Given the description of an element on the screen output the (x, y) to click on. 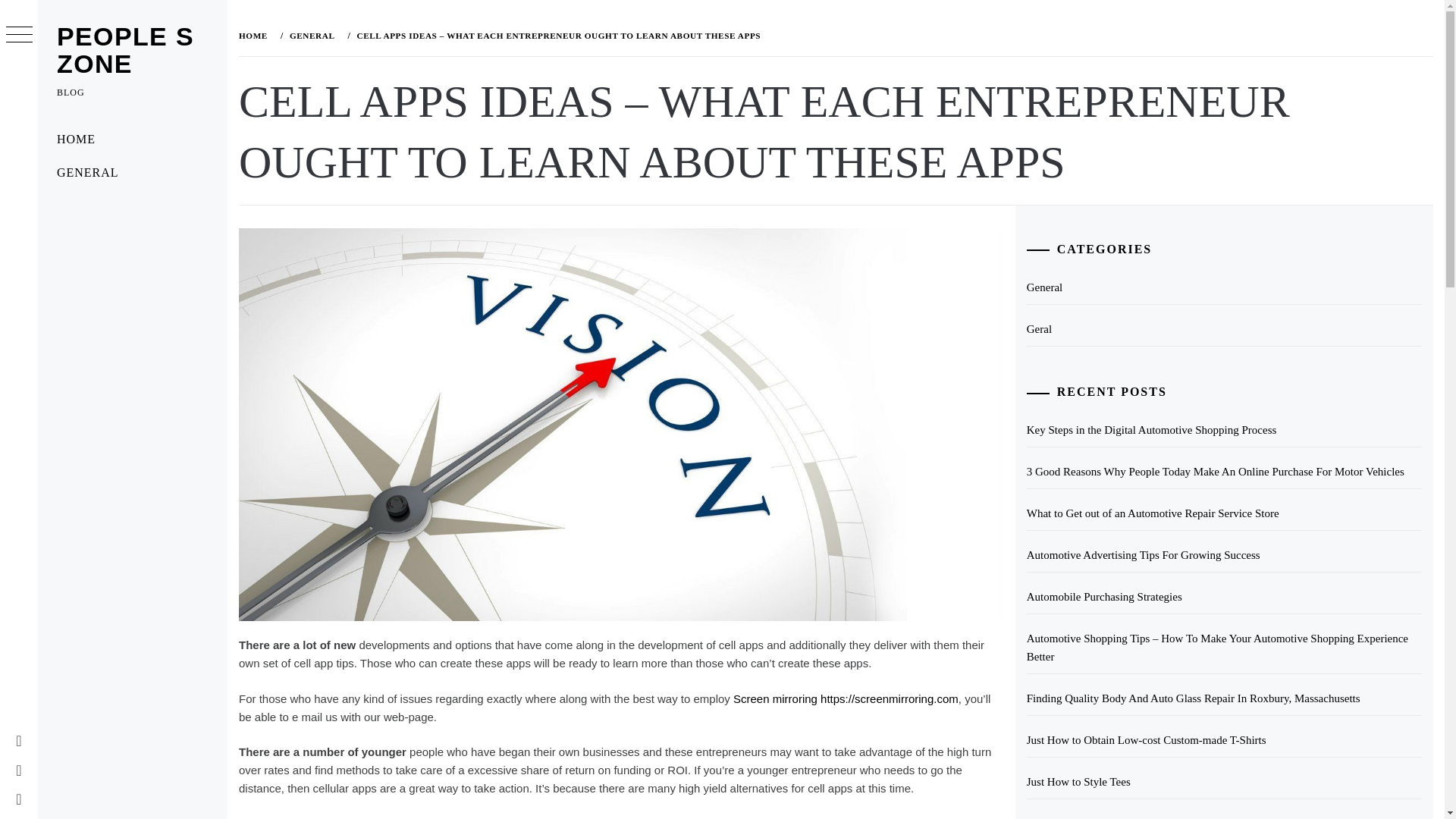
Automotive Advertising Tips For Growing Success (1224, 555)
Geral (1224, 329)
What to Get out of an Automotive Repair Service Store (1224, 513)
PEOPLE S ZONE (124, 49)
HOME (132, 139)
HOME (255, 35)
Just How to Obtain Low-cost Custom-made T-Shirts (1224, 740)
Key Steps in the Digital Automotive Shopping Process (1224, 430)
General (1224, 287)
GENERAL (310, 35)
Automobile Purchasing Strategies (1224, 596)
GENERAL (132, 172)
